Given the description of an element on the screen output the (x, y) to click on. 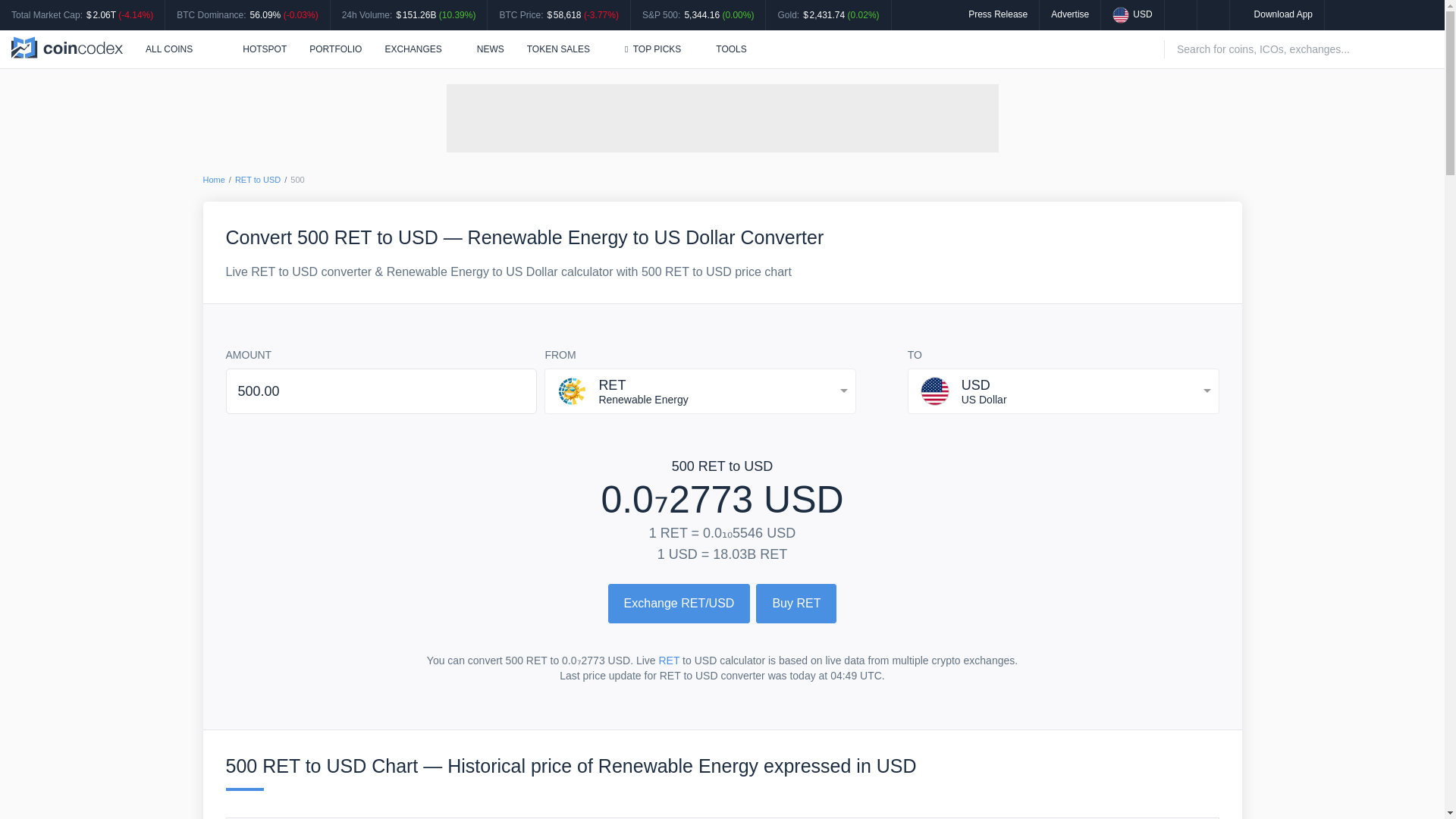
NEWS (490, 48)
PORTFOLIO (335, 48)
HOTSPOT (256, 48)
RET to USD (257, 179)
RET (668, 660)
Advertise (1070, 14)
500.00 (381, 391)
Press Release (997, 14)
Buy RET (795, 603)
Home (214, 179)
